Given the description of an element on the screen output the (x, y) to click on. 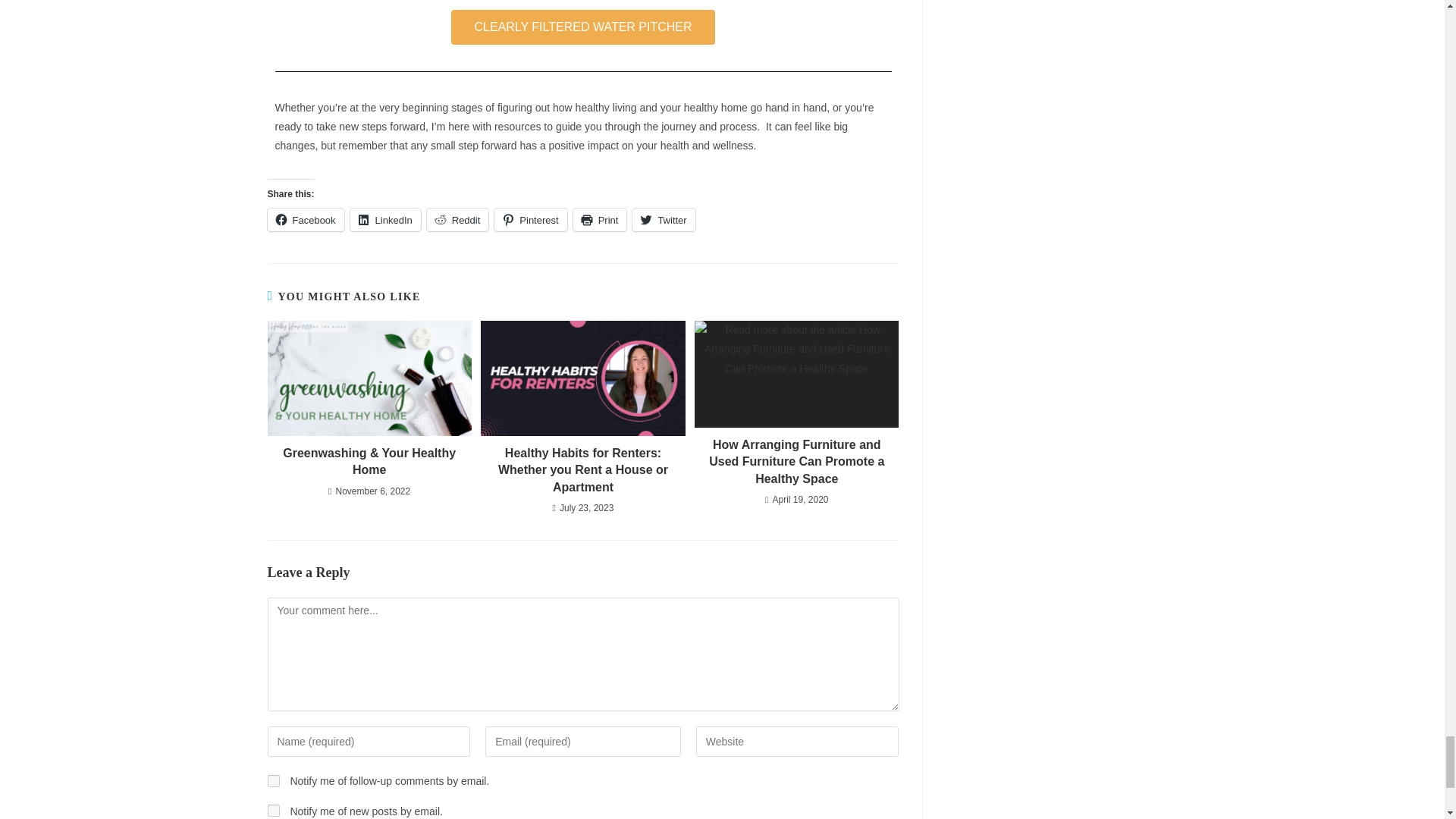
Click to print (600, 219)
subscribe (272, 780)
Click to share on Pinterest (530, 219)
Click to share on LinkedIn (385, 219)
Click to share on Reddit (457, 219)
subscribe (272, 810)
Click to share on Twitter (662, 219)
Click to share on Facebook (304, 219)
